Given the description of an element on the screen output the (x, y) to click on. 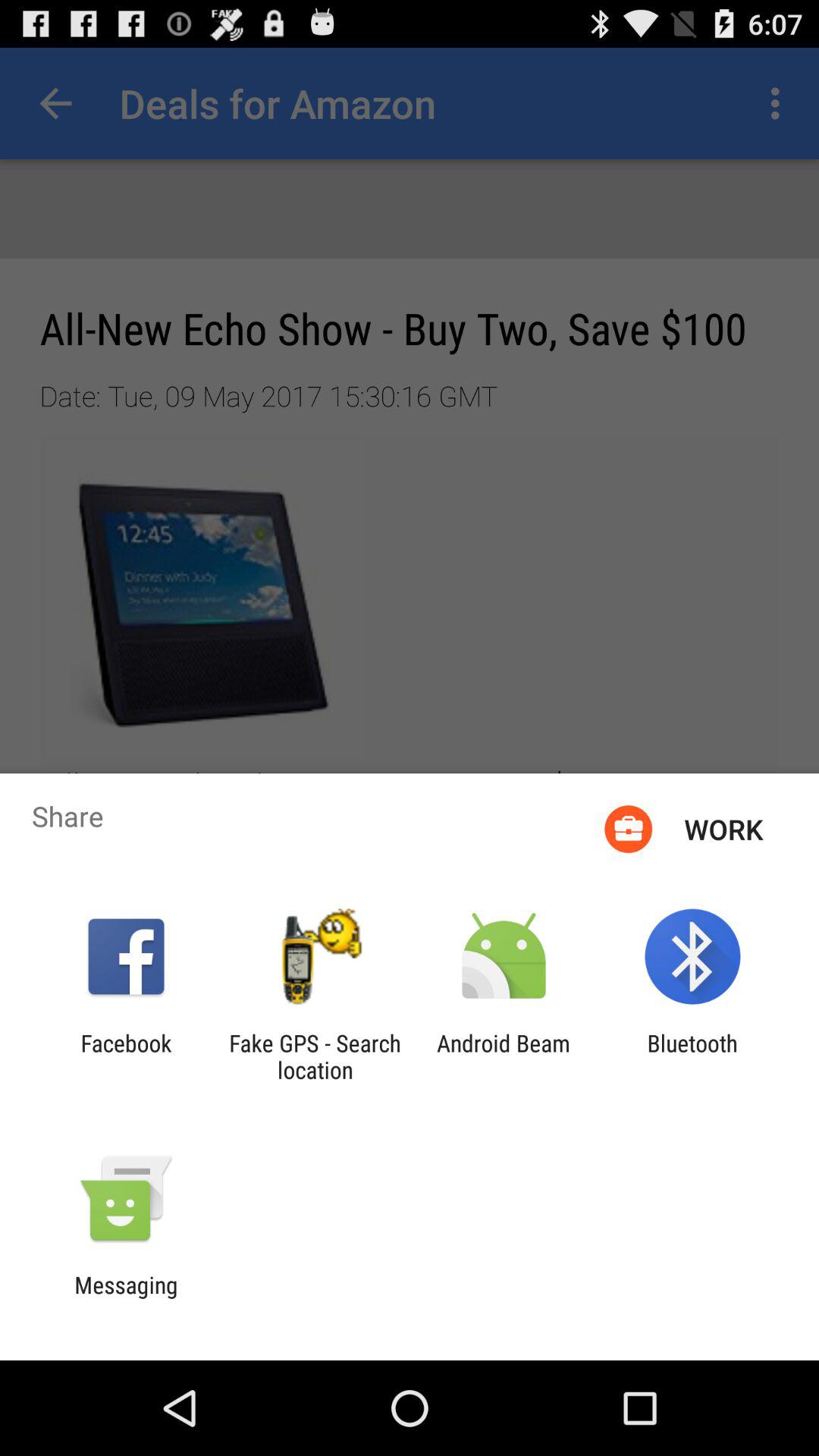
jump to facebook icon (125, 1056)
